Given the description of an element on the screen output the (x, y) to click on. 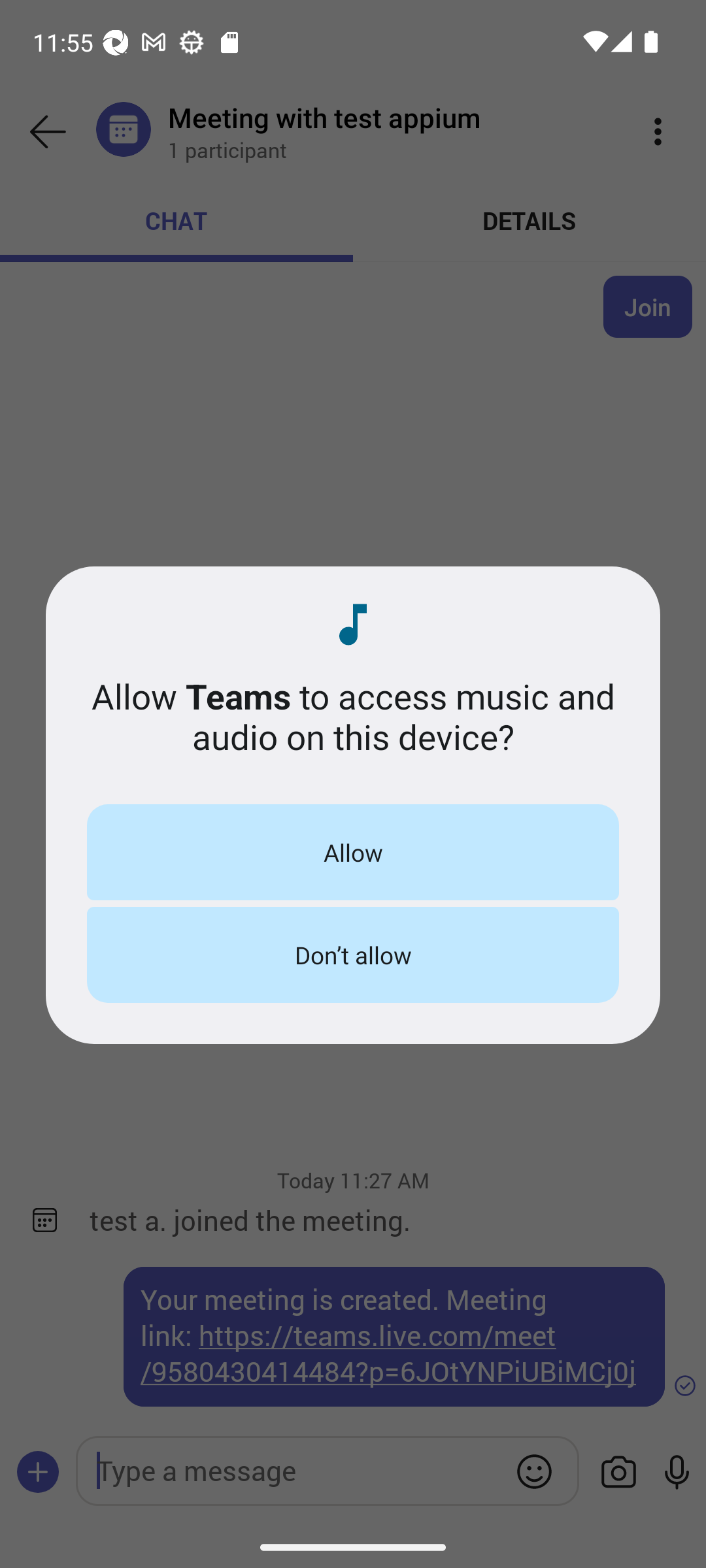
Allow (352, 852)
Don’t allow (352, 954)
